Given the description of an element on the screen output the (x, y) to click on. 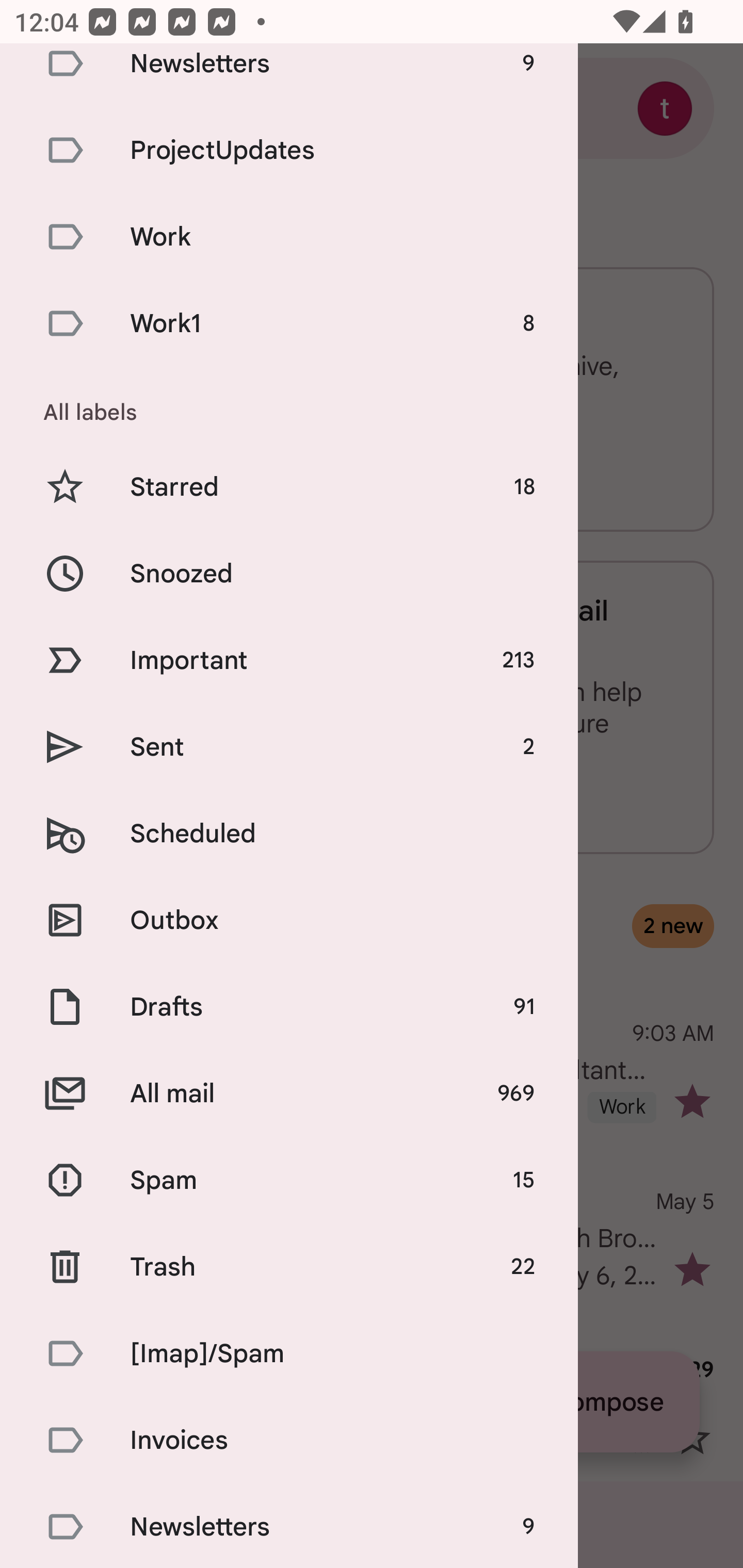
Newsletters 9 (289, 74)
ProjectUpdates (289, 149)
Work (289, 236)
Work1 8 (289, 323)
Starred 18 (289, 486)
Snoozed (289, 572)
Important 213 (289, 660)
Sent 2 (289, 747)
Scheduled (289, 833)
Outbox (289, 919)
Drafts 91 (289, 1006)
All mail 969 (289, 1093)
Spam 15 (289, 1179)
Trash 22 (289, 1266)
[Imap]/Spam (289, 1353)
Invoices (289, 1440)
Newsletters 9 (289, 1525)
